Given the description of an element on the screen output the (x, y) to click on. 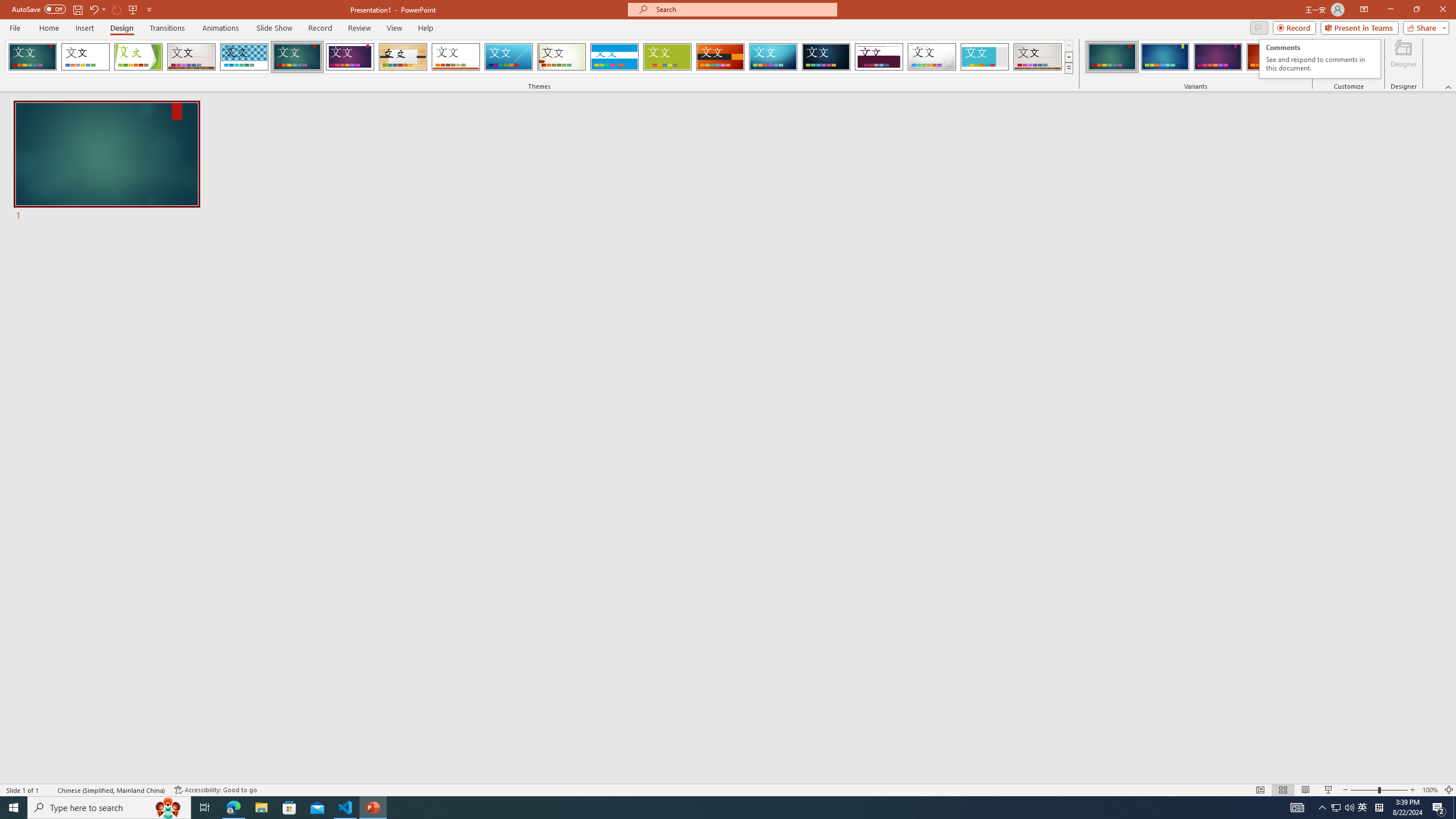
Retrospect Loading Preview... (455, 56)
Ion Variant 4 (1270, 56)
Office Theme (85, 56)
Droplet Loading Preview... (931, 56)
Organic Loading Preview... (403, 56)
Spell Check  (49, 790)
